Given the description of an element on the screen output the (x, y) to click on. 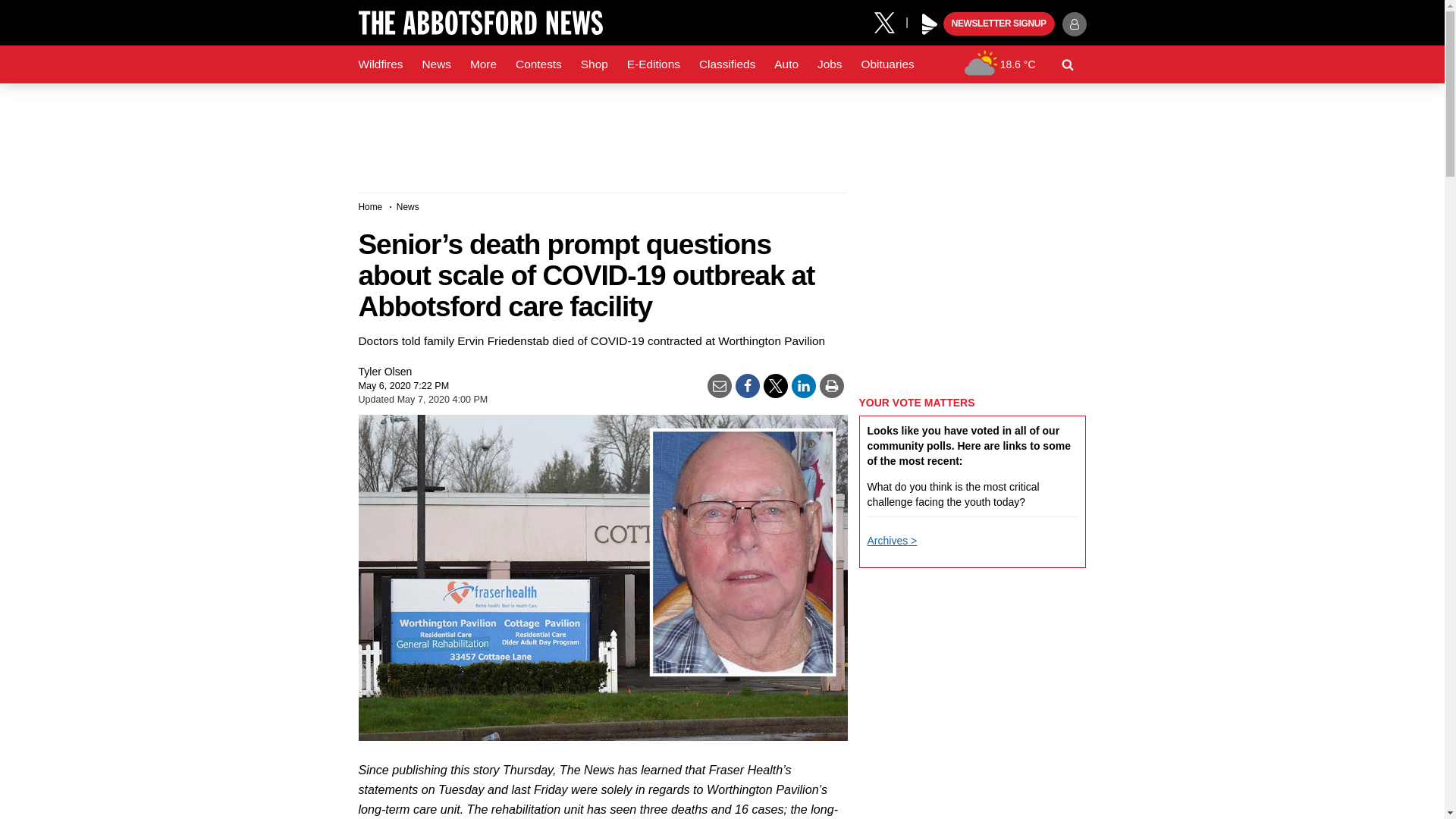
Black Press Media (929, 24)
Play (929, 24)
NEWSLETTER SIGNUP (998, 24)
News (435, 64)
Wildfires (380, 64)
X (889, 21)
